Given the description of an element on the screen output the (x, y) to click on. 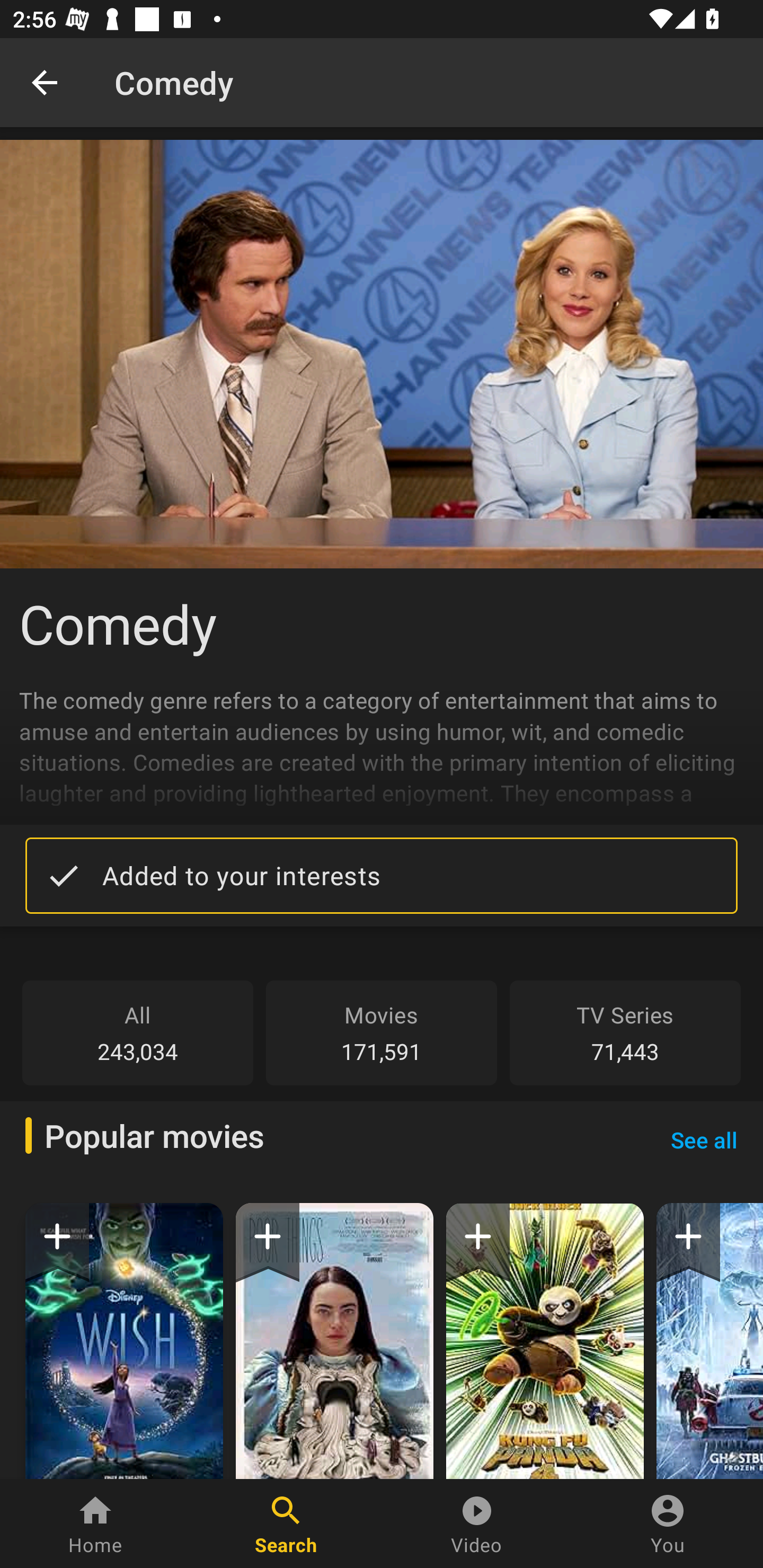
Added to your interests (381, 875)
All 243,034 (137, 1032)
Movies 171,591 (381, 1032)
TV Series 71,443 (624, 1032)
See all See all Popular movies (703, 1139)
Home (95, 1523)
Video (476, 1523)
You (667, 1523)
